Given the description of an element on the screen output the (x, y) to click on. 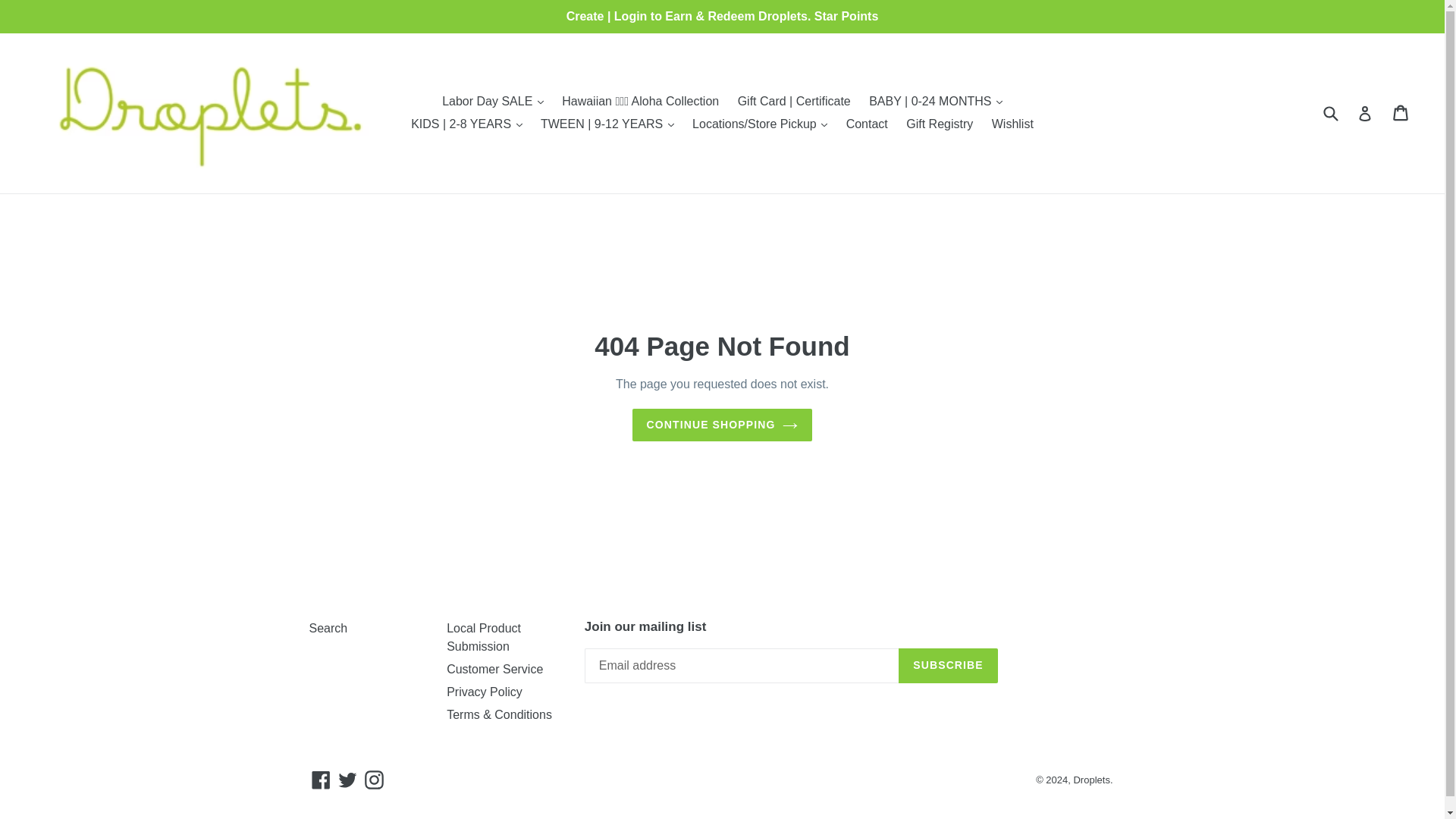
Droplets. on Twitter (347, 779)
Droplets. on Facebook (320, 779)
Droplets. on Instagram (373, 779)
